Given the description of an element on the screen output the (x, y) to click on. 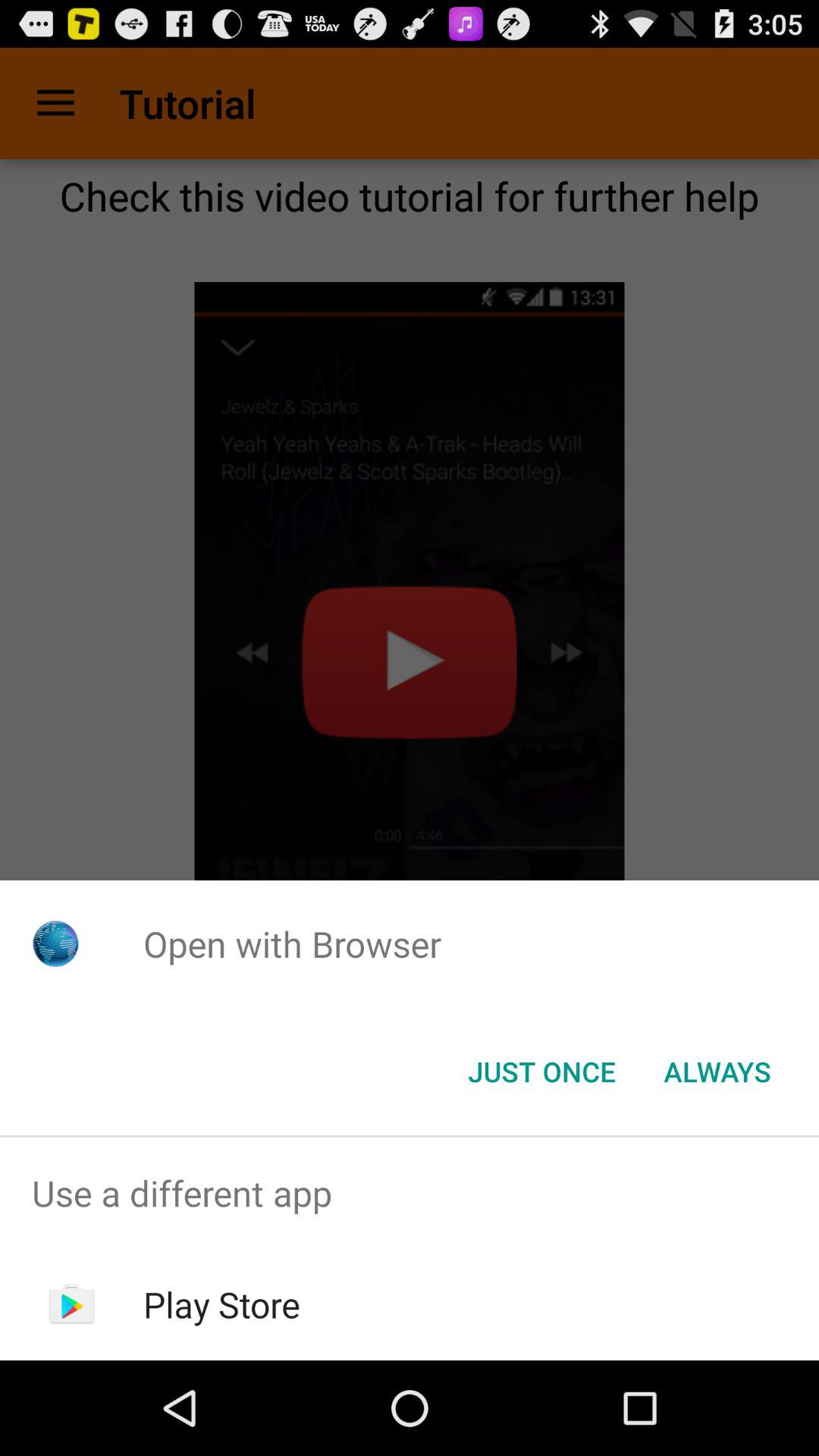
turn on use a different (409, 1192)
